Given the description of an element on the screen output the (x, y) to click on. 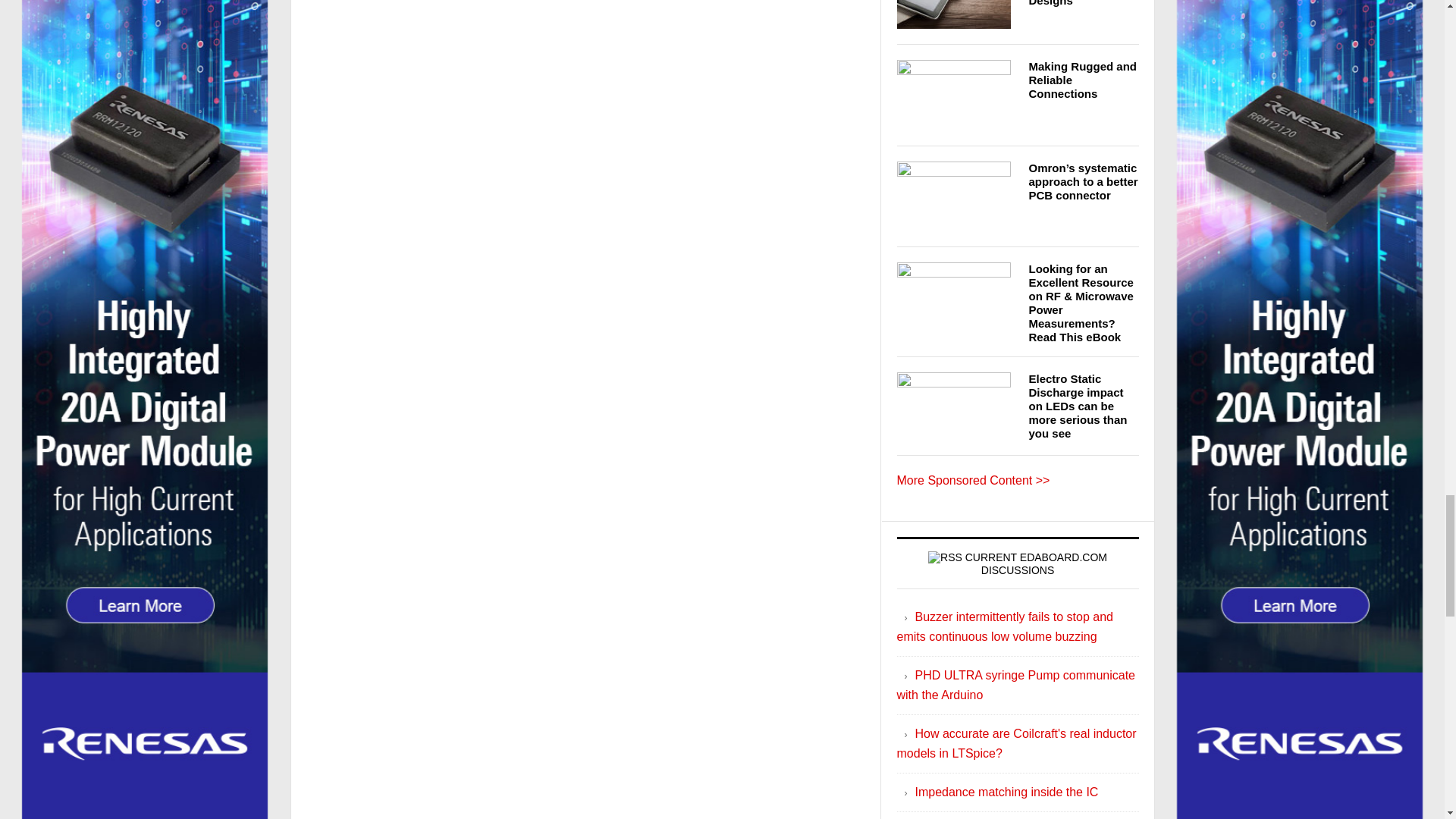
Sponsored Content (972, 480)
